Given the description of an element on the screen output the (x, y) to click on. 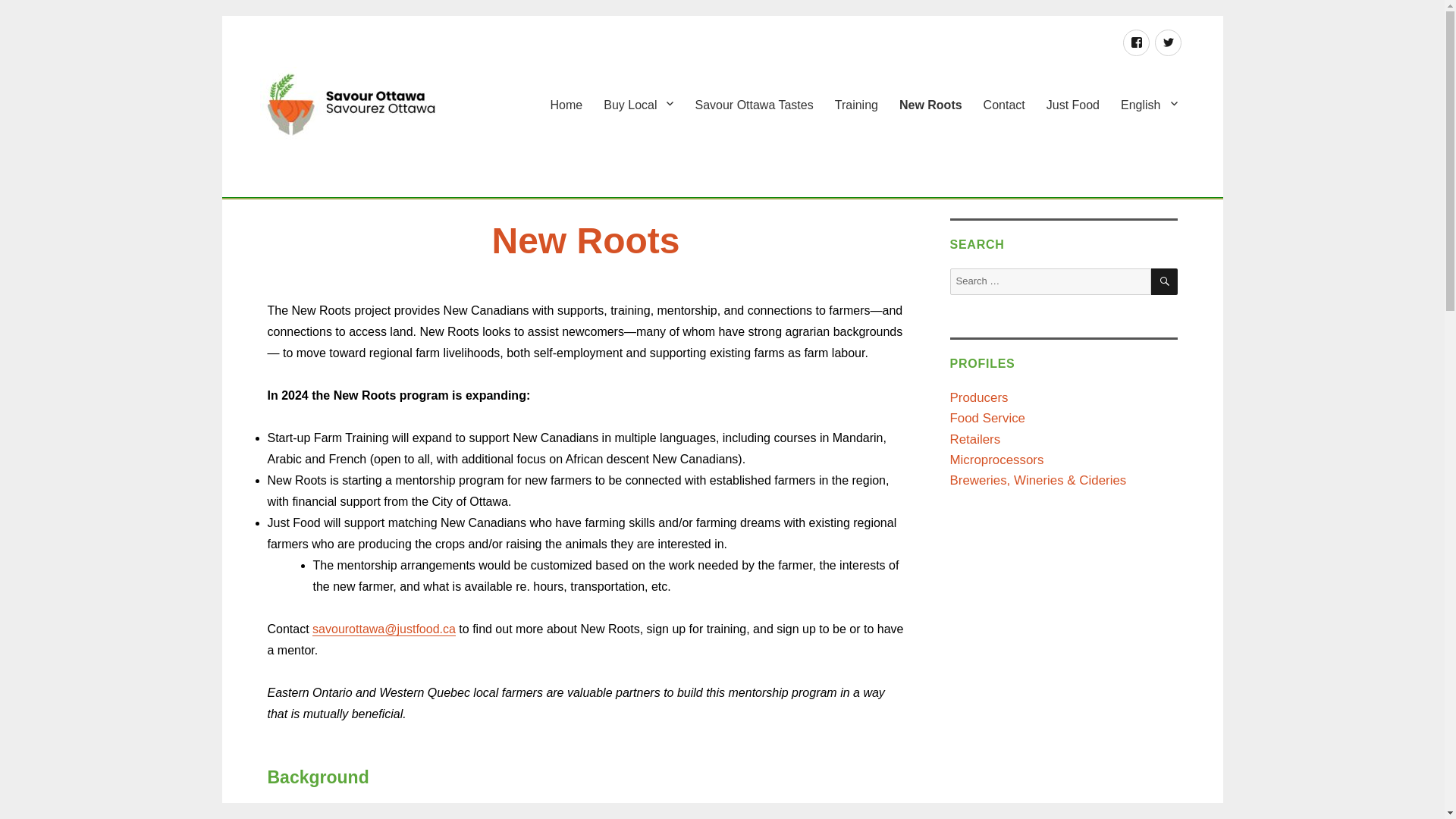
English (1148, 104)
New Roots (930, 104)
Twitter (1167, 42)
Training (856, 104)
Contact (1003, 104)
Food Service (987, 418)
Just Food (1072, 104)
Microprocessors (996, 459)
Producers (978, 397)
